Given the description of an element on the screen output the (x, y) to click on. 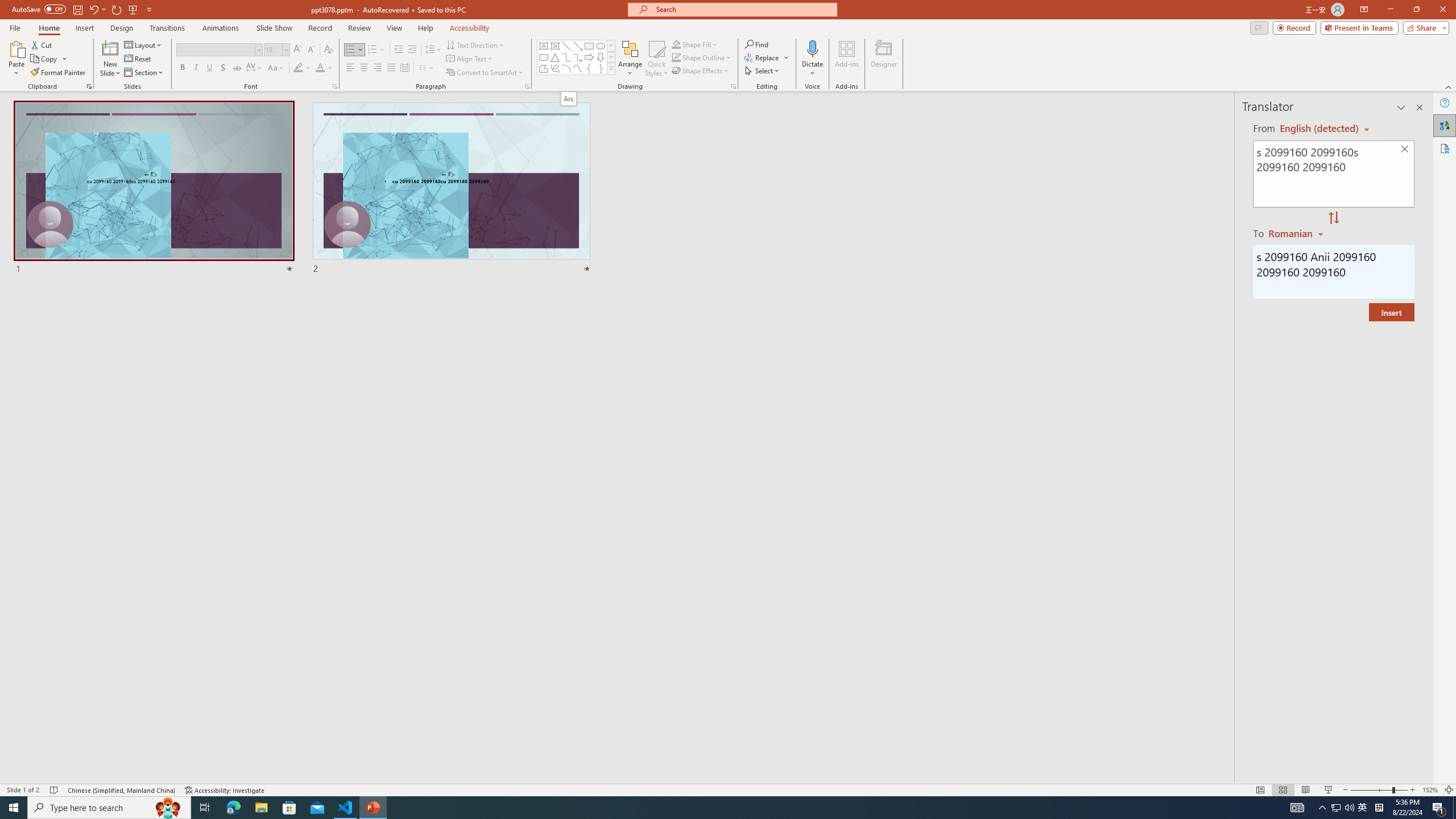
Connector: Elbow Arrow (577, 57)
Align Text (470, 58)
Left Brace (589, 68)
Shape Effects (700, 69)
Strikethrough (237, 67)
